Given the description of an element on the screen output the (x, y) to click on. 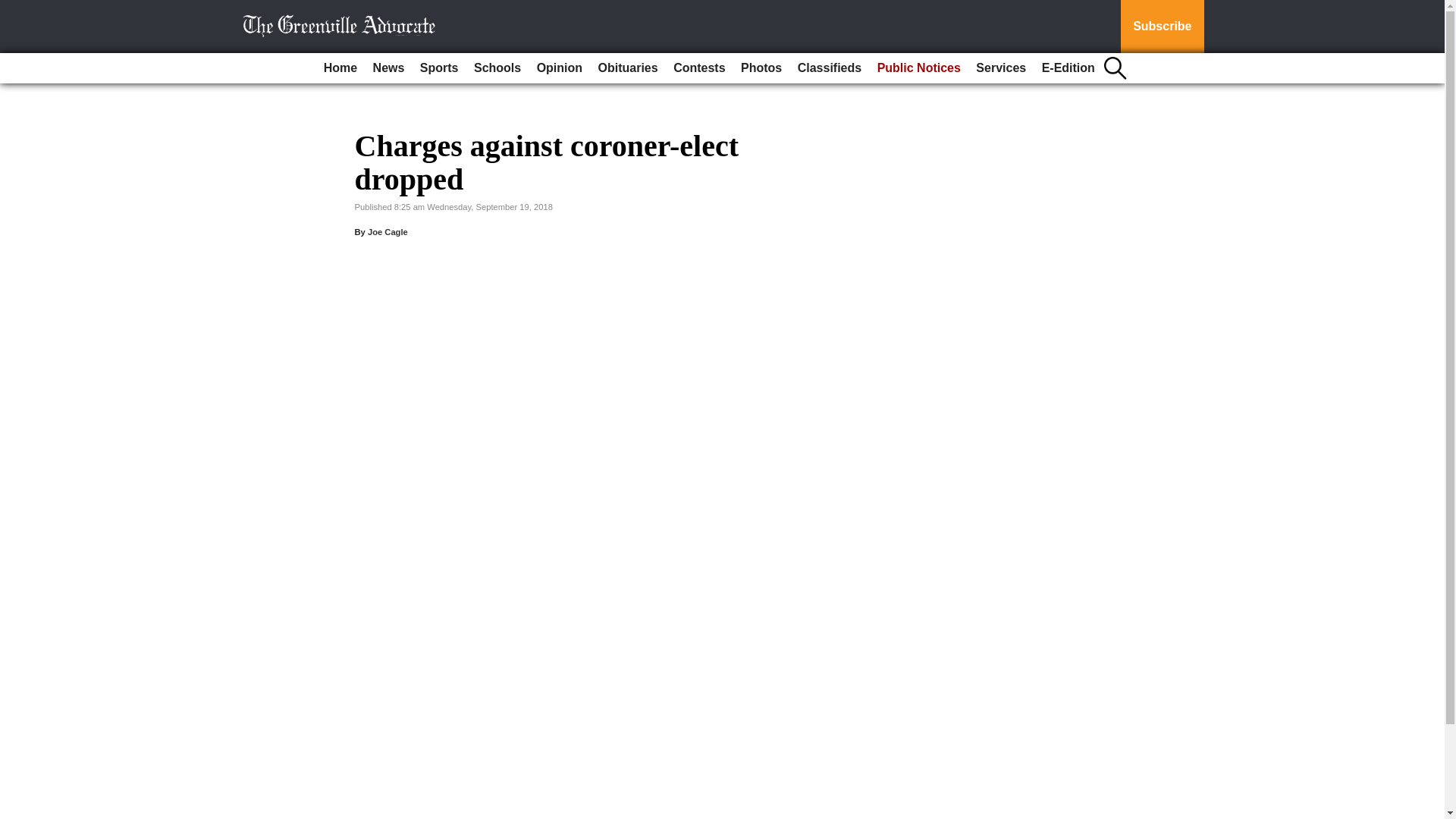
Subscribe (1162, 26)
Joe Cagle (387, 231)
Obituaries (627, 68)
Go (13, 9)
Services (1000, 68)
Home (339, 68)
Public Notices (918, 68)
Classifieds (829, 68)
News (388, 68)
Schools (497, 68)
